Given the description of an element on the screen output the (x, y) to click on. 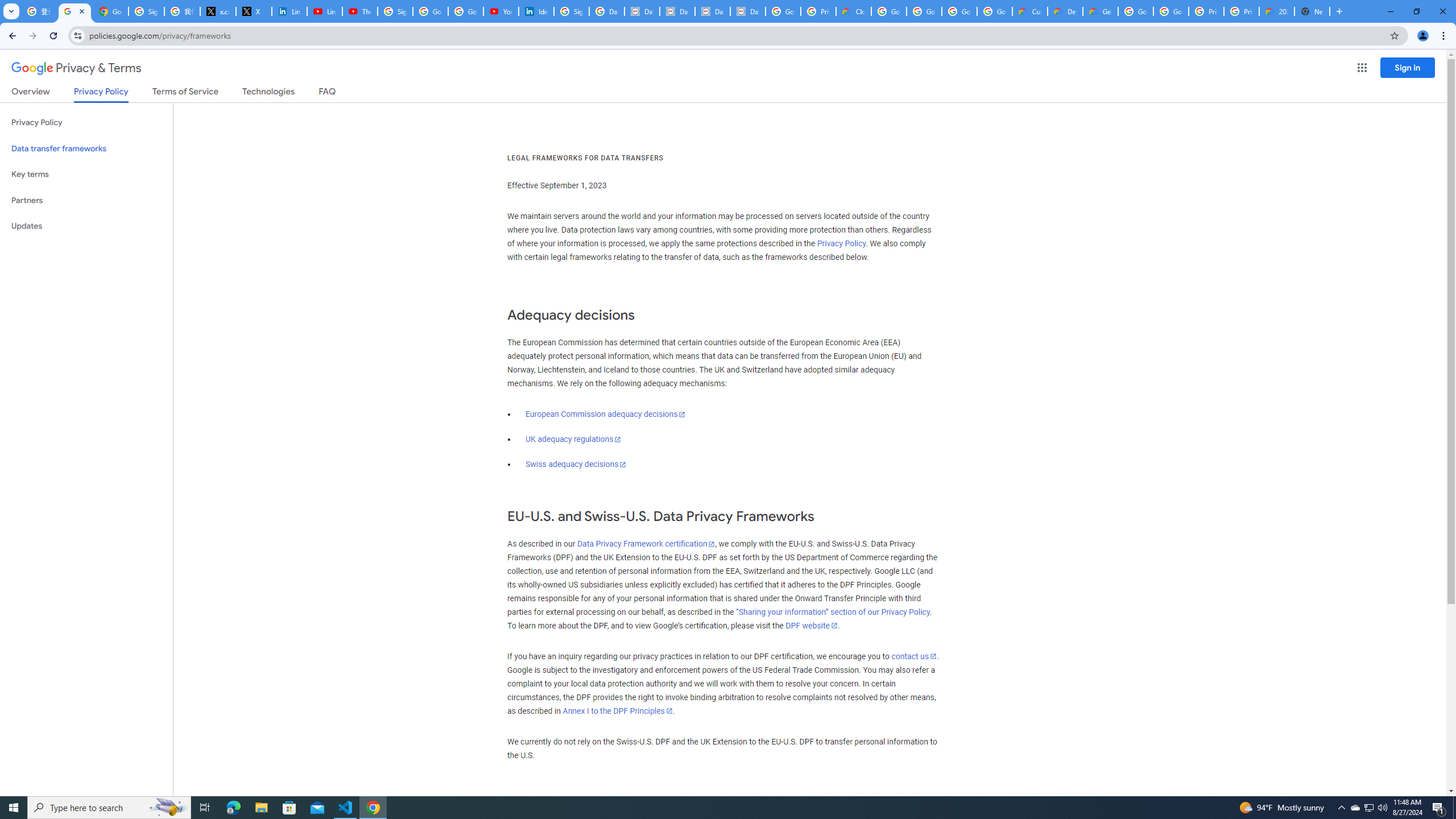
Gemini for Business and Developers | Google Cloud (1099, 11)
LinkedIn - YouTube (324, 11)
Data Privacy Framework (712, 11)
Data Privacy Framework (747, 11)
New Tab (1312, 11)
Google Cloud Platform (1135, 11)
